Given the description of an element on the screen output the (x, y) to click on. 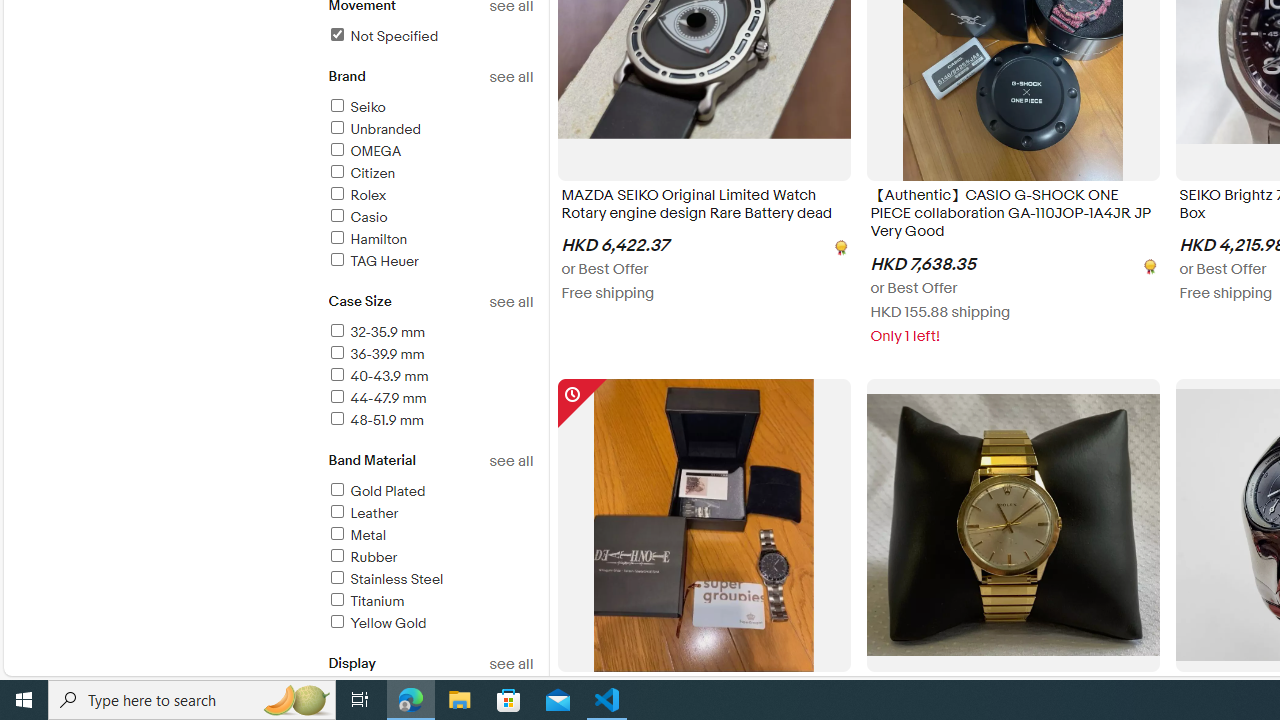
See all display refinements (510, 664)
Citizen (430, 174)
See all case size refinements (510, 302)
32-35.9 mm (376, 332)
See all brand refinements (510, 77)
OMEGA (430, 152)
44-47.9 mm (430, 399)
Titanium (365, 601)
Yellow Gold (376, 623)
Hamilton (430, 240)
48-51.9 mm (374, 420)
36-39.9 mm (375, 354)
Gold Plated (376, 491)
